Given the description of an element on the screen output the (x, y) to click on. 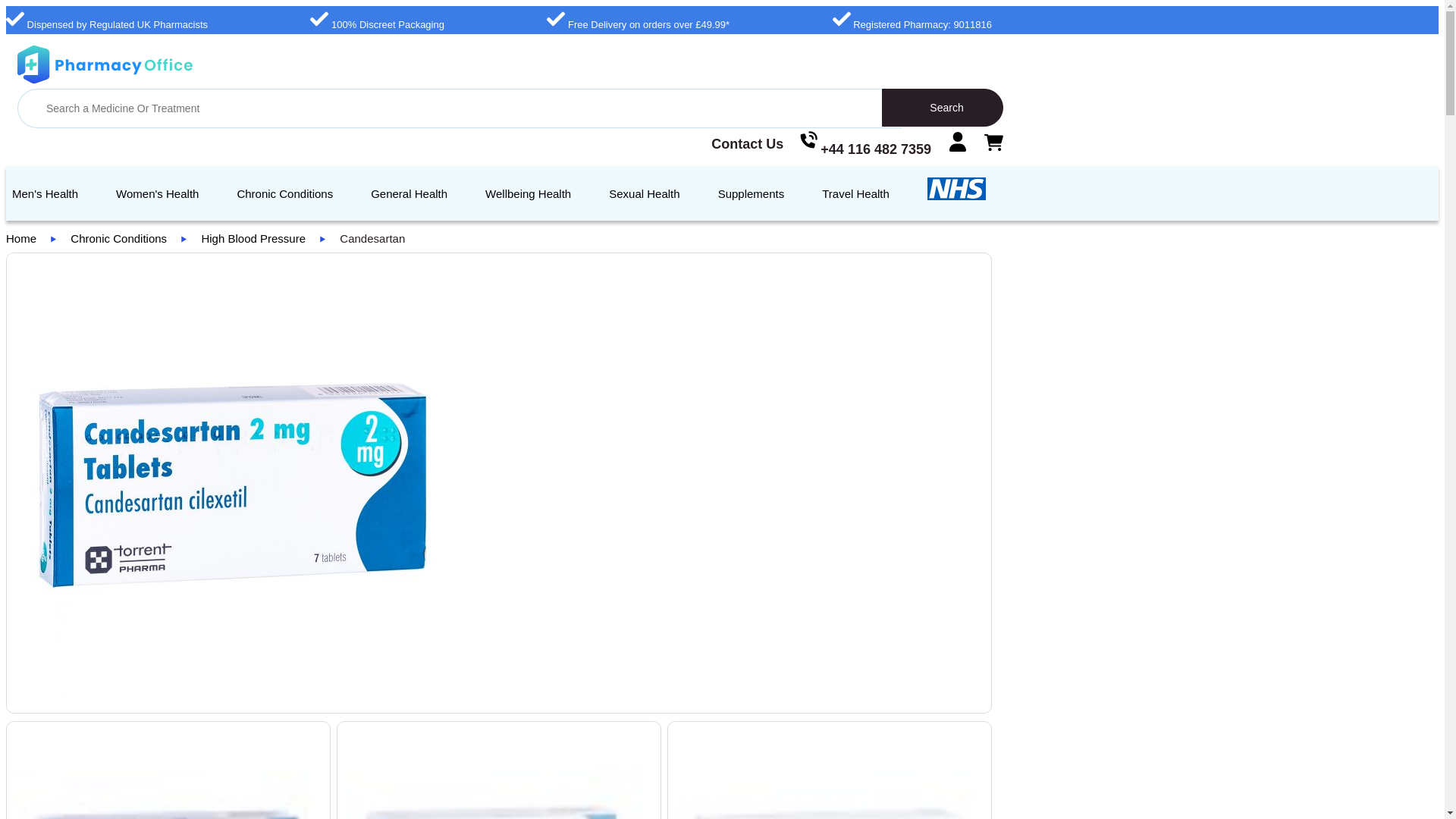
Search (942, 107)
Search (942, 107)
My Basket (993, 142)
